Given the description of an element on the screen output the (x, y) to click on. 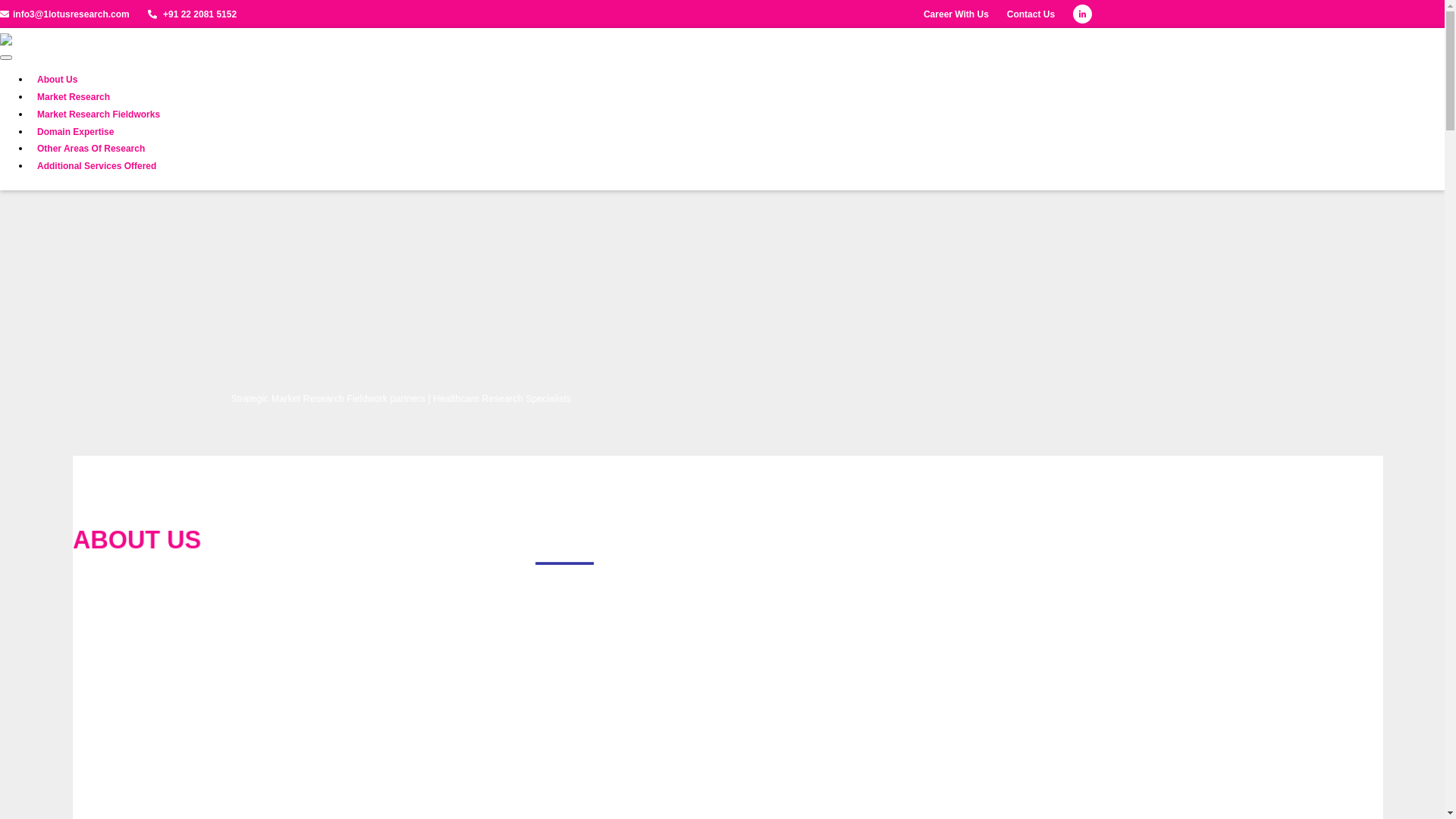
Other Areas Of Research Element type: text (90, 149)
Contact Us Element type: text (1030, 14)
Domain Expertise Element type: text (75, 132)
Market Research Element type: text (73, 97)
Additional Services Offered Element type: text (96, 166)
+91 22 2081 5152 Element type: text (191, 14)
info3@1lotusresearch.com Element type: text (64, 14)
Career With Us Element type: text (955, 14)
About Us Element type: text (57, 80)
Market Research Fieldworks Element type: text (98, 115)
